Given the description of an element on the screen output the (x, y) to click on. 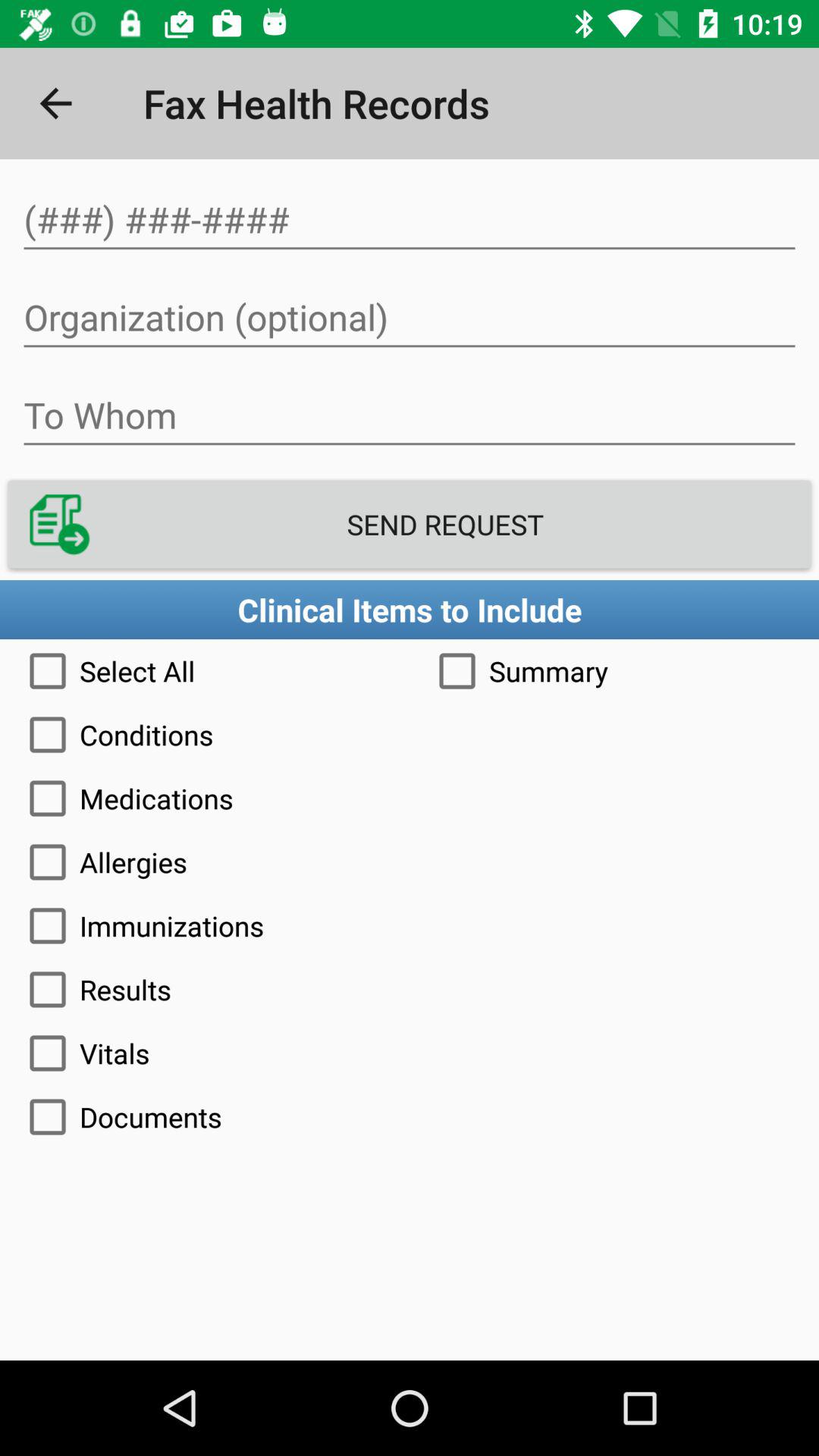
turn on icon next to the summary item (204, 670)
